Given the description of an element on the screen output the (x, y) to click on. 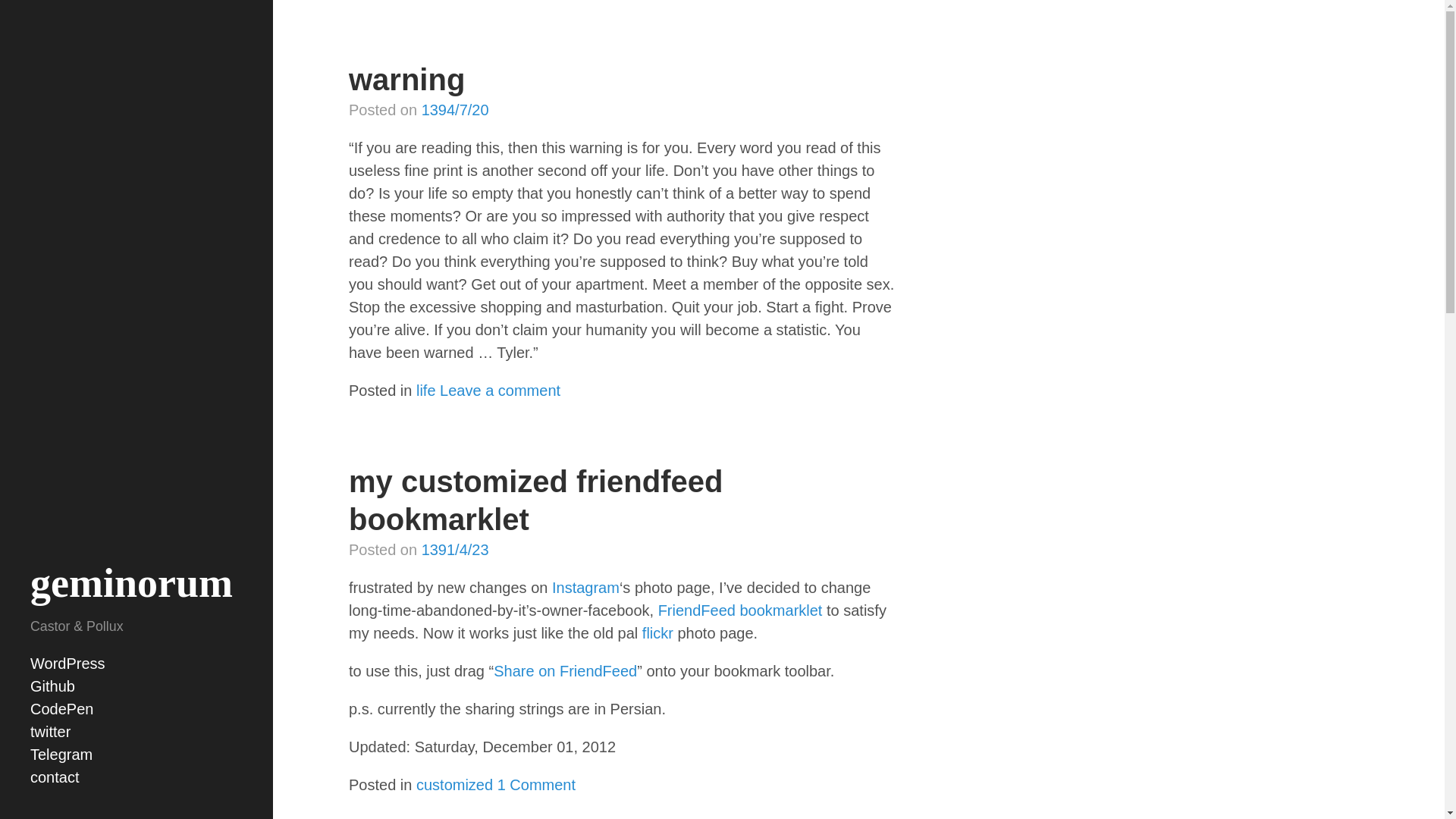
customized (454, 784)
FriendFeed (696, 610)
twitter (49, 731)
Instagram (585, 587)
Leave a comment (499, 390)
flickr (657, 632)
Telegram (61, 754)
life (425, 390)
geminorum (131, 583)
Share on FriendFeed (565, 670)
Github (52, 686)
bookmarklet (780, 610)
1 Comment (536, 784)
WordPress (67, 663)
contact (54, 777)
